Given the description of an element on the screen output the (x, y) to click on. 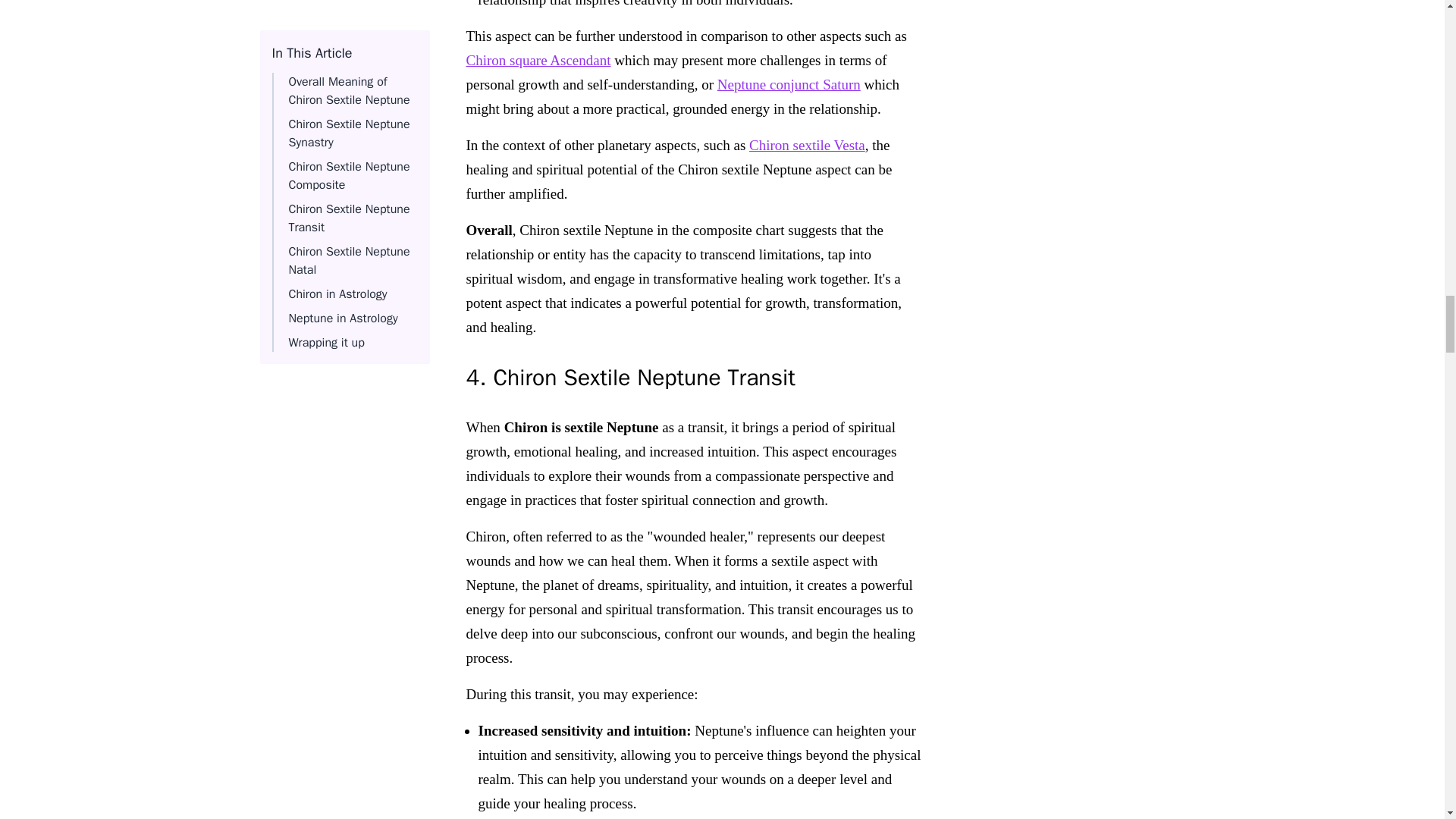
Chiron square Ascendant (537, 59)
Chiron sextile Vesta (806, 144)
Neptune conjunct Saturn (788, 83)
